Given the description of an element on the screen output the (x, y) to click on. 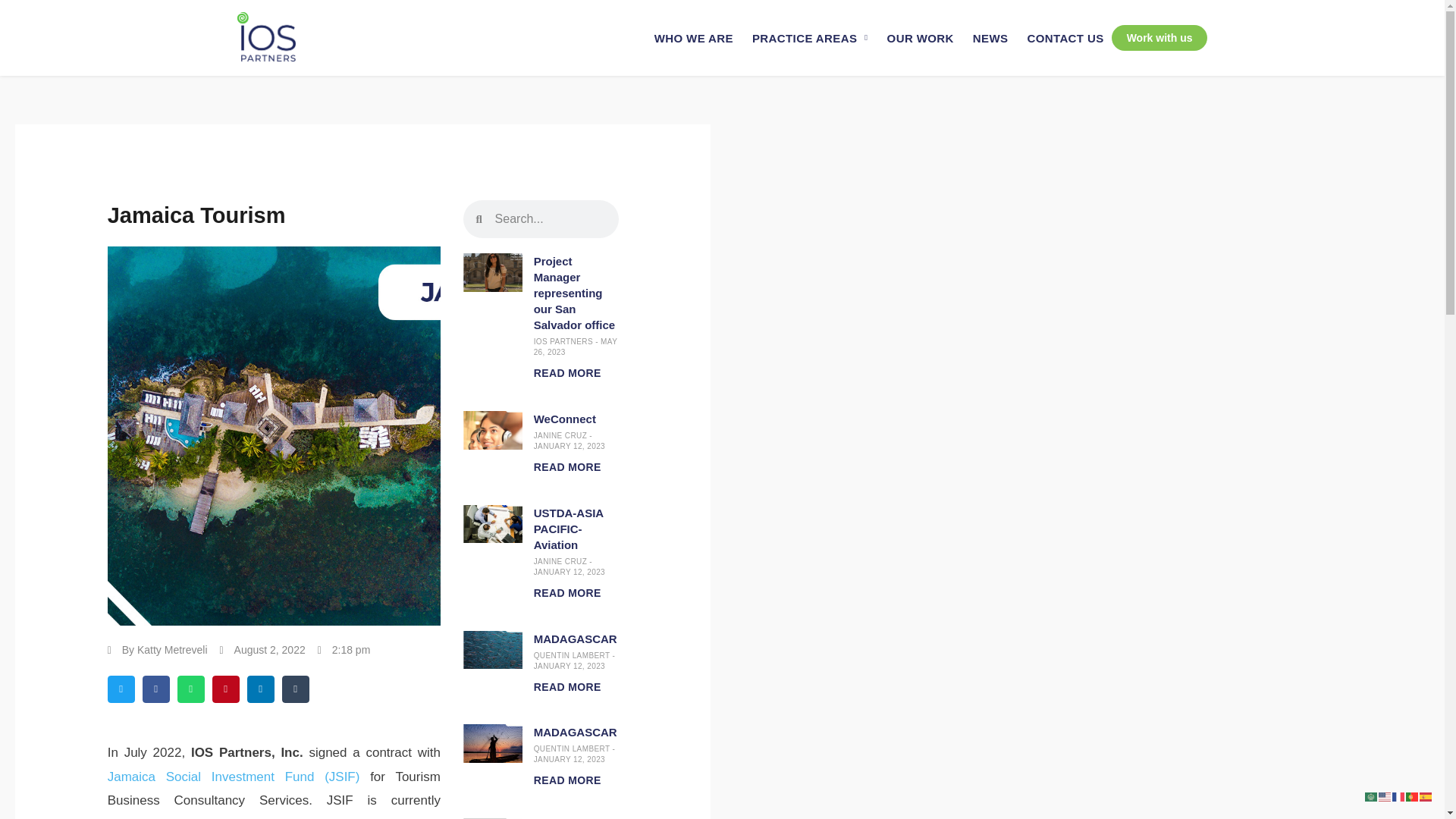
CONTACT US (1064, 37)
OUR WORK (919, 37)
PRACTICE AREAS (809, 37)
NEWS (990, 37)
Portuguese (1412, 795)
WHO WE ARE (693, 37)
Spanish (1425, 795)
French (1398, 795)
English (1384, 795)
Arabic (1371, 795)
